Given the description of an element on the screen output the (x, y) to click on. 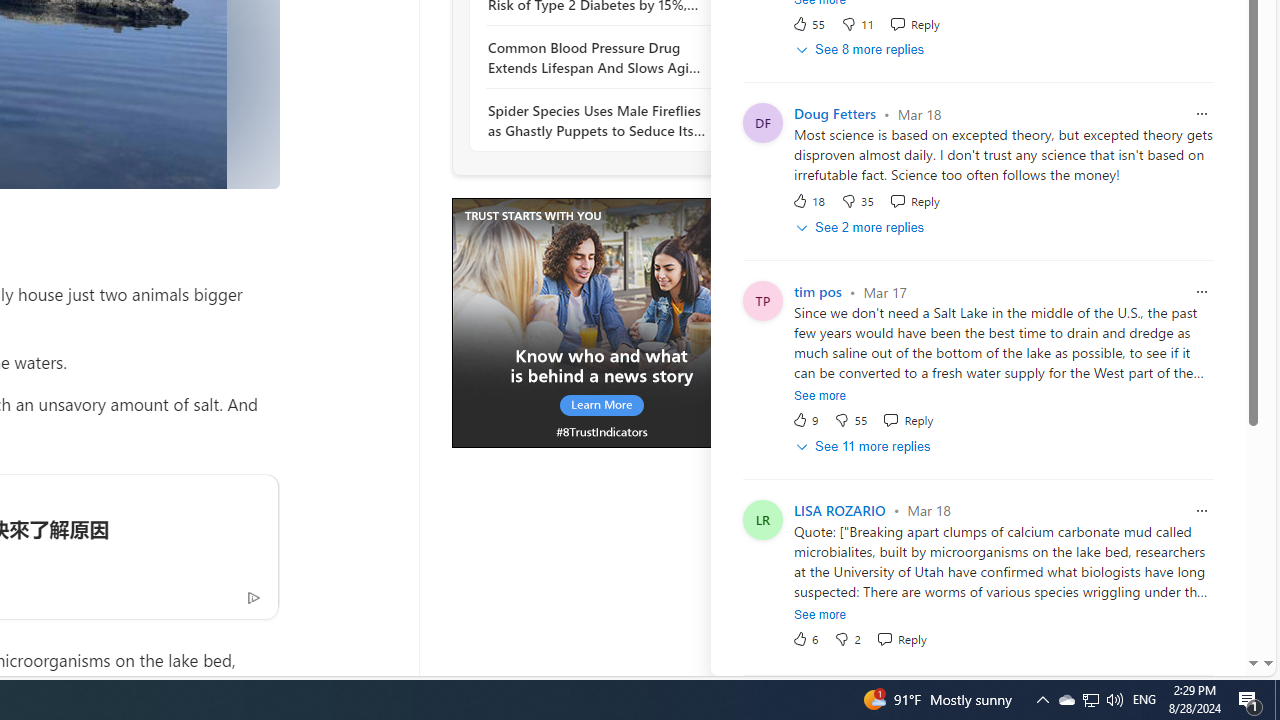
See 11 more replies (864, 446)
9 Like (804, 420)
See 8 more replies (861, 50)
Reply Reply Comment (900, 637)
Profile Picture (762, 519)
LISA ROZARIO (839, 510)
To get missing image descriptions, open the context menu. (601, 322)
Doug Fetters (834, 114)
See 2 more replies (861, 228)
18 Like (808, 200)
